Given the description of an element on the screen output the (x, y) to click on. 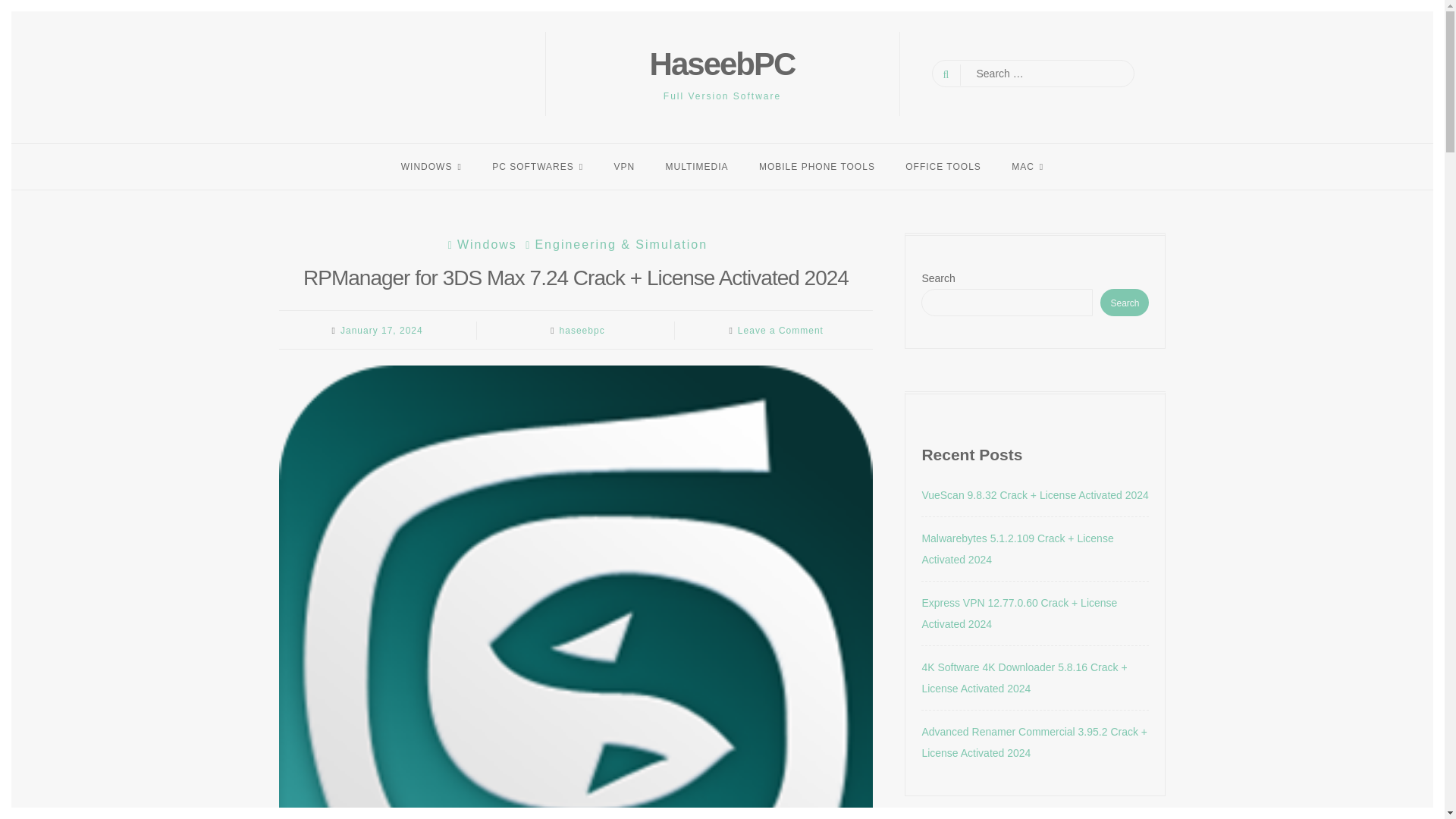
Windows (480, 244)
Search (24, 9)
OFFICE TOOLS (942, 166)
MULTIMEDIA (695, 166)
MOBILE PHONE TOOLS (816, 166)
PC SOFTWARES (537, 166)
haseebpc (582, 330)
VPN (623, 166)
MAC (1027, 166)
HaseebPC (721, 63)
WINDOWS (431, 166)
